Given the description of an element on the screen output the (x, y) to click on. 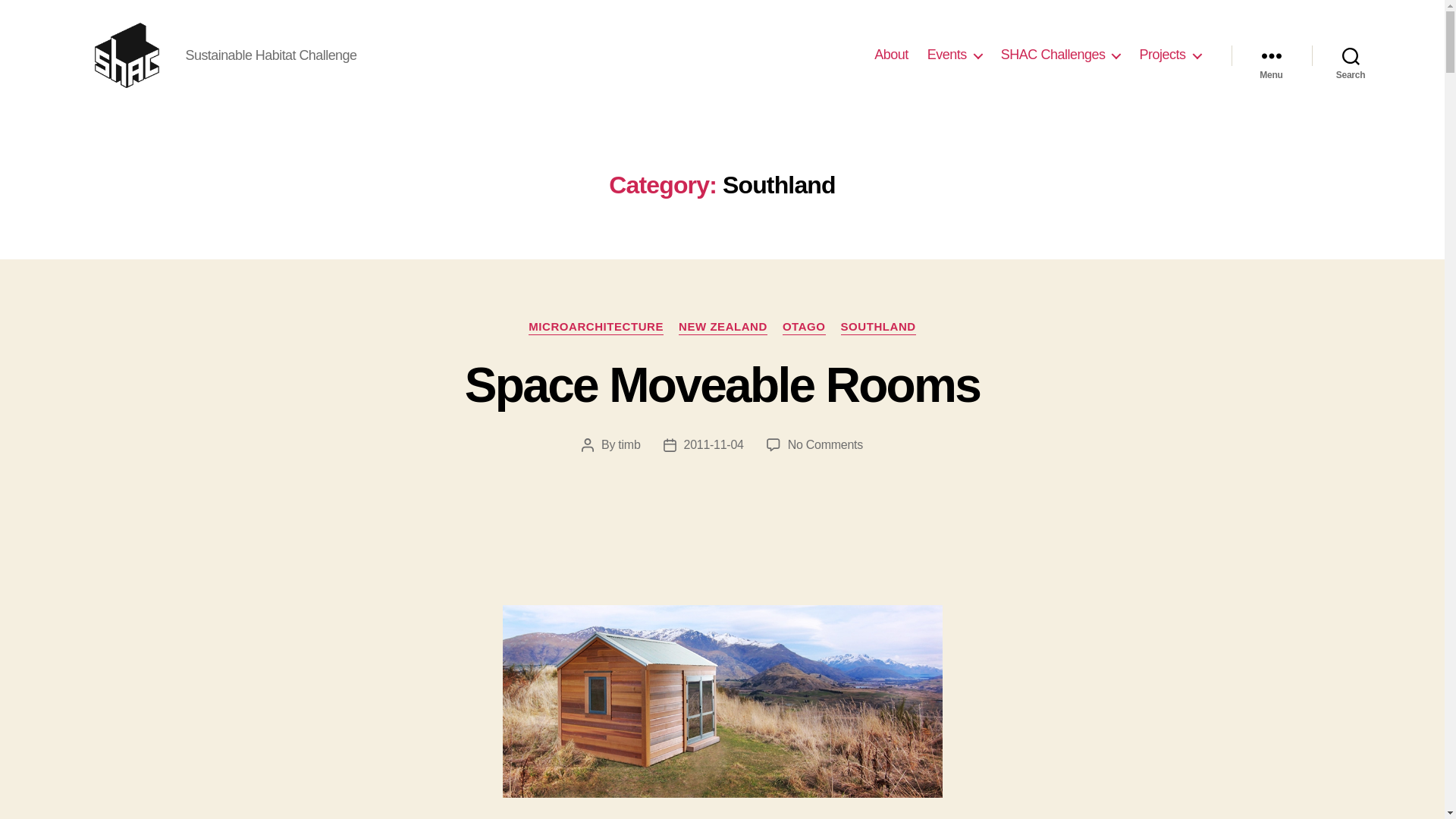
Events (954, 54)
Projects (1168, 54)
Search (1350, 55)
SHAC Challenges (1061, 54)
About (891, 54)
Menu (1271, 55)
